Given the description of an element on the screen output the (x, y) to click on. 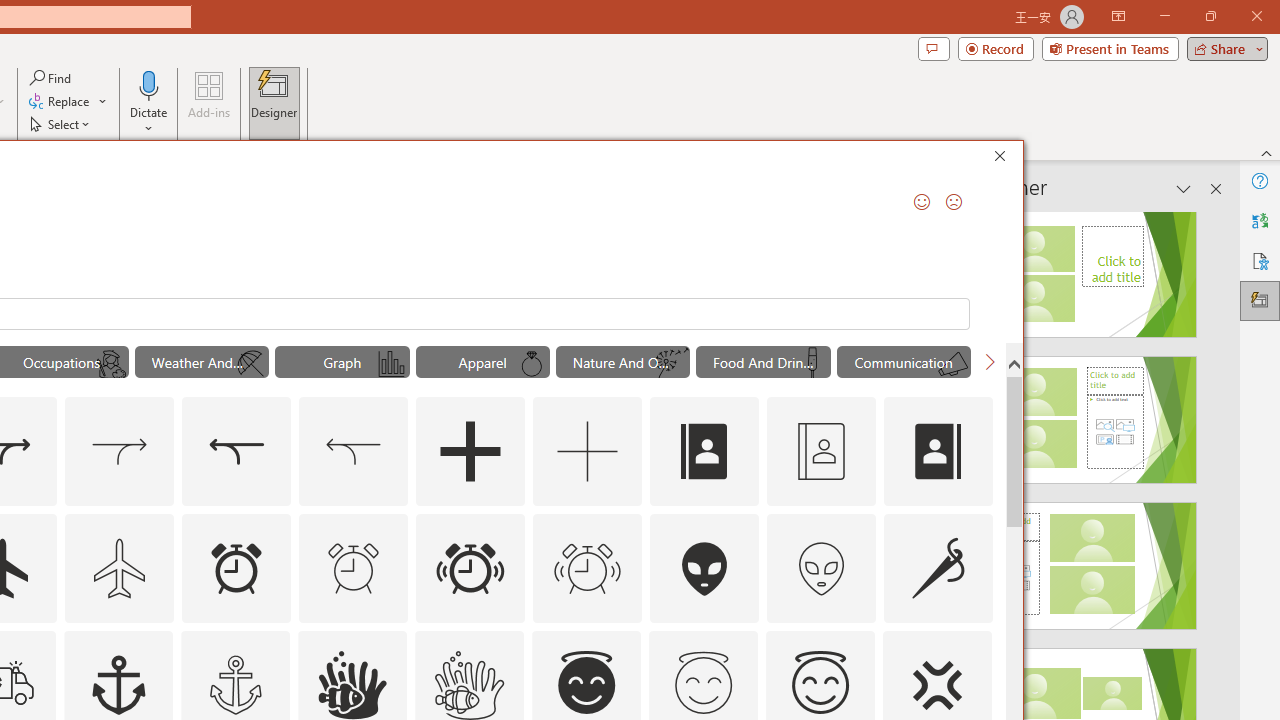
AutomationID: Icons_Acquisition_RTL_M (353, 452)
Next Search Suggestion (990, 362)
AutomationID: Icons_AlienFace_M (821, 568)
Send a Smile (922, 201)
"Graph" Icons. (342, 362)
AutomationID: Icons_AlarmRinging_M (587, 568)
Thumbnail (977, 645)
AutomationID: Icons_AddressBook_LTR_M (821, 452)
